Given the description of an element on the screen output the (x, y) to click on. 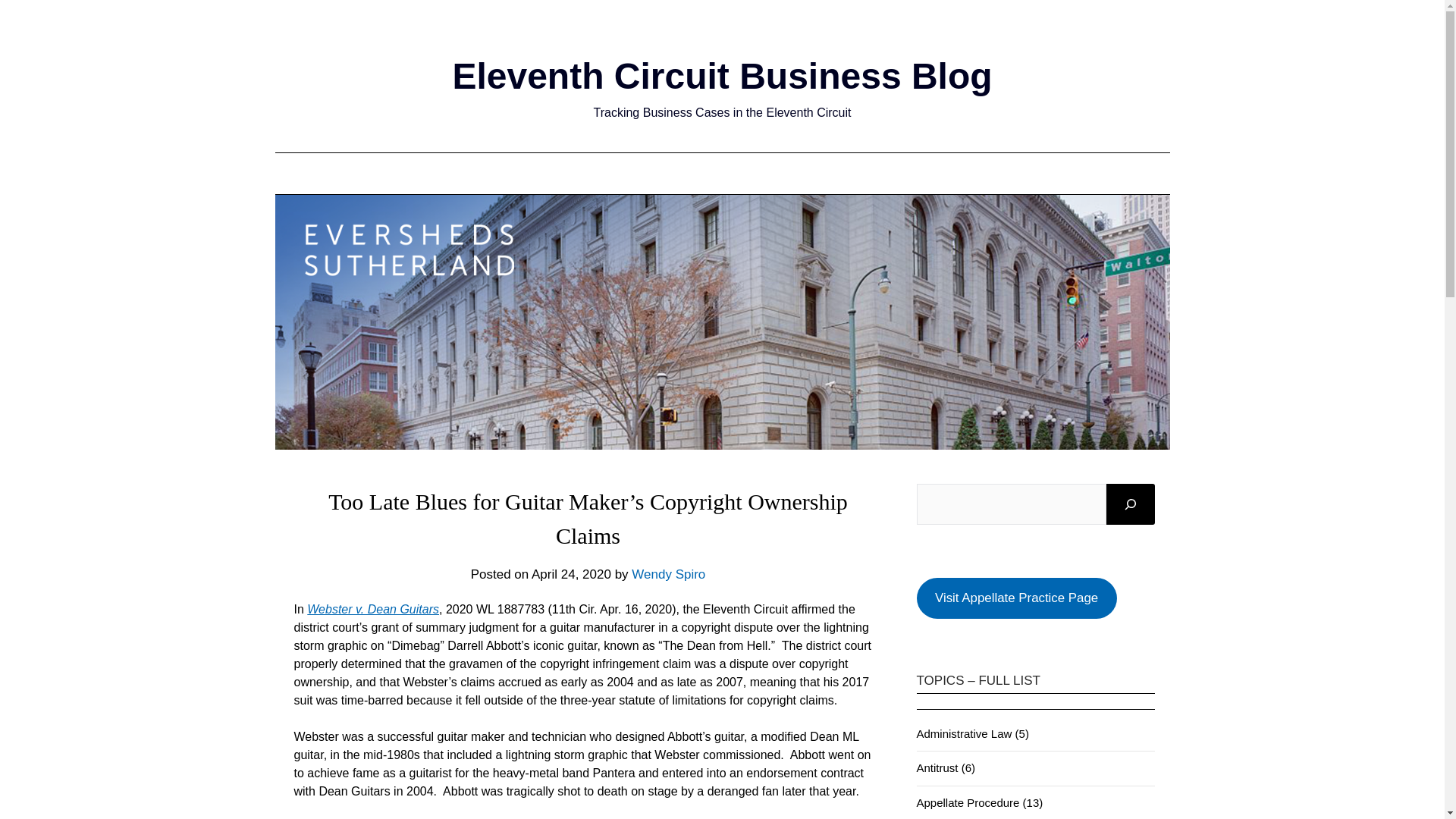
Eleventh Circuit Business Blog (721, 76)
HOME (485, 173)
CONTRIBUTORS (647, 173)
ABOUT (550, 173)
Webster v. Dean Guitars (373, 608)
Wendy Spiro (667, 574)
SUBSCRIBE (941, 173)
Visit Appellate Practice Page (1015, 598)
CONTACT (851, 173)
DISCLAIMER (759, 173)
